Given the description of an element on the screen output the (x, y) to click on. 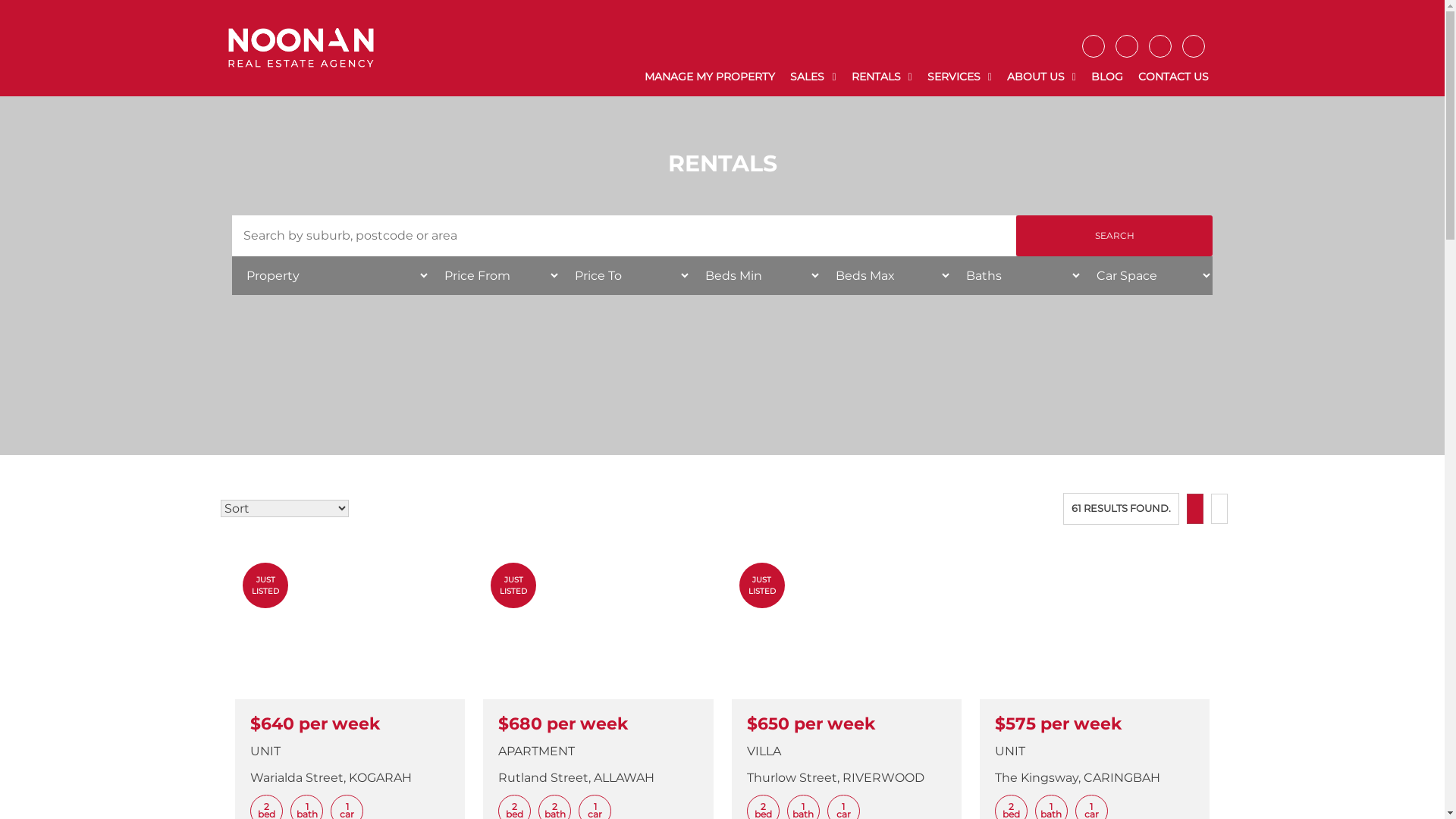
Noonan Real Estate Agency Element type: hover (300, 48)
ABOUT US Element type: text (1041, 76)
MANAGE MY PROPERTY Element type: text (709, 76)
Search Element type: text (1114, 235)
SERVICES Element type: text (959, 76)
SALES Element type: text (812, 76)
BLOG Element type: text (1106, 76)
CONTACT US Element type: text (1173, 76)
RENTALS Element type: text (881, 76)
